Given the description of an element on the screen output the (x, y) to click on. 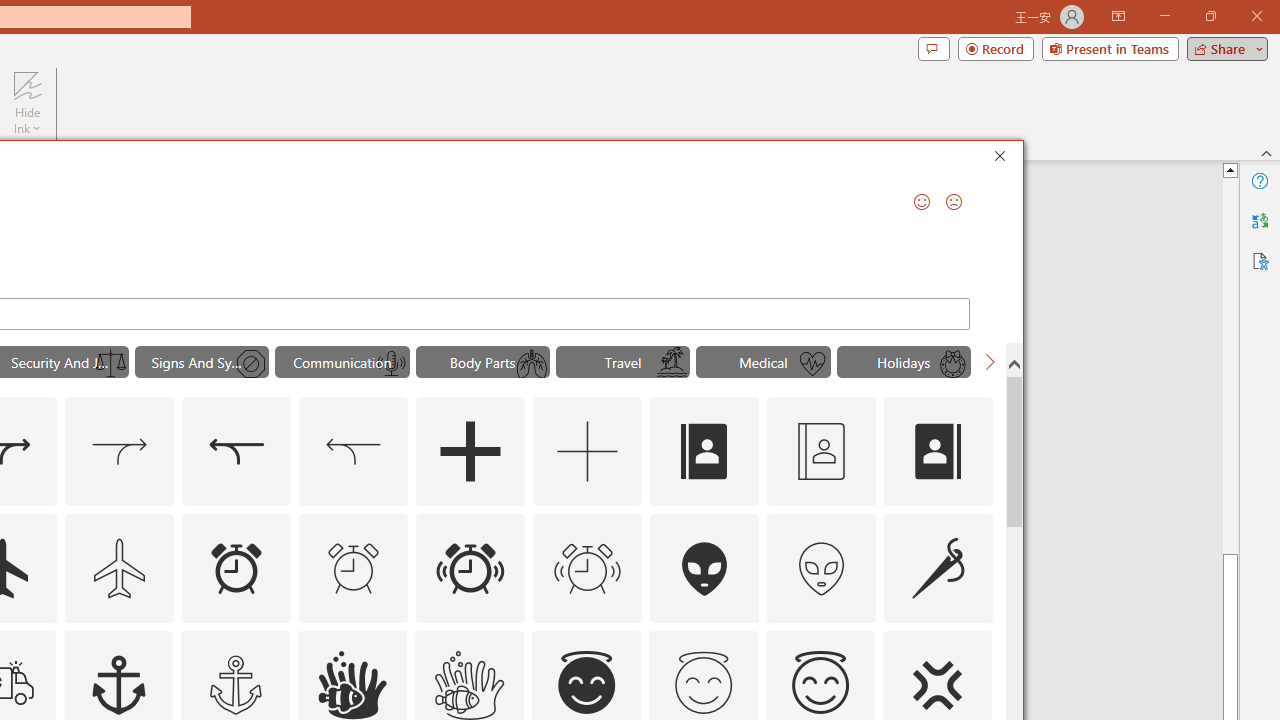
AutomationID: Icons_StopSign_M (250, 364)
AutomationID: Icons_HeartWithPulse_M (812, 364)
AutomationID: Icons_AlarmRinging (470, 568)
AutomationID: Icons_Podcast_M (391, 364)
"Holidays" Icons. (904, 362)
Send a Frown (954, 201)
AutomationID: Icons_Add (470, 452)
AutomationID: Icons_AlarmClock_M (353, 568)
AutomationID: Icons_AlienFace (705, 568)
AutomationID: Icons_TropicalScene_M (671, 364)
